Given the description of an element on the screen output the (x, y) to click on. 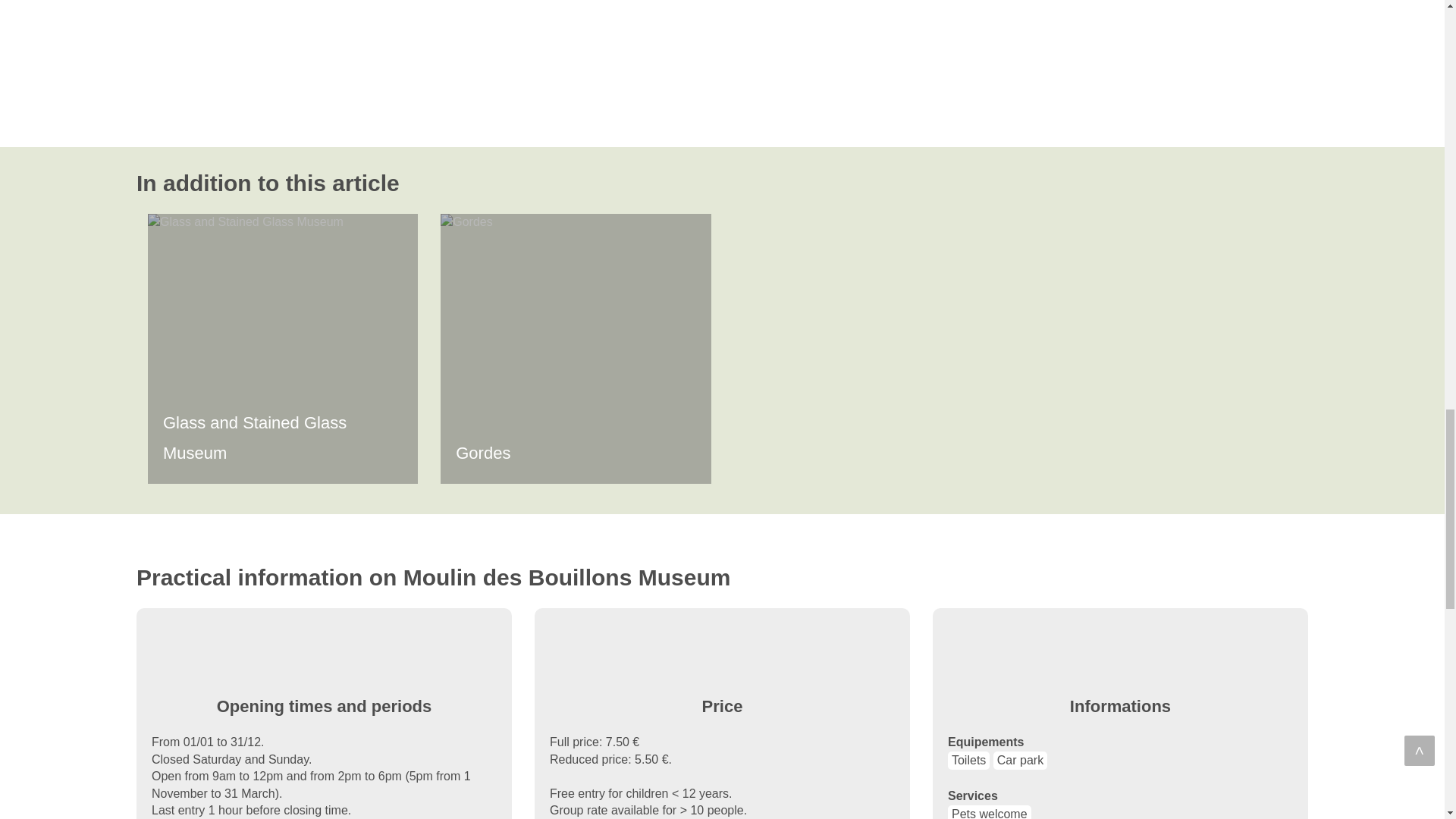
Gordes (575, 348)
Glass and Stained Glass Museum (282, 348)
Practical information on Moulin des Bouillons Museum (721, 577)
